Given the description of an element on the screen output the (x, y) to click on. 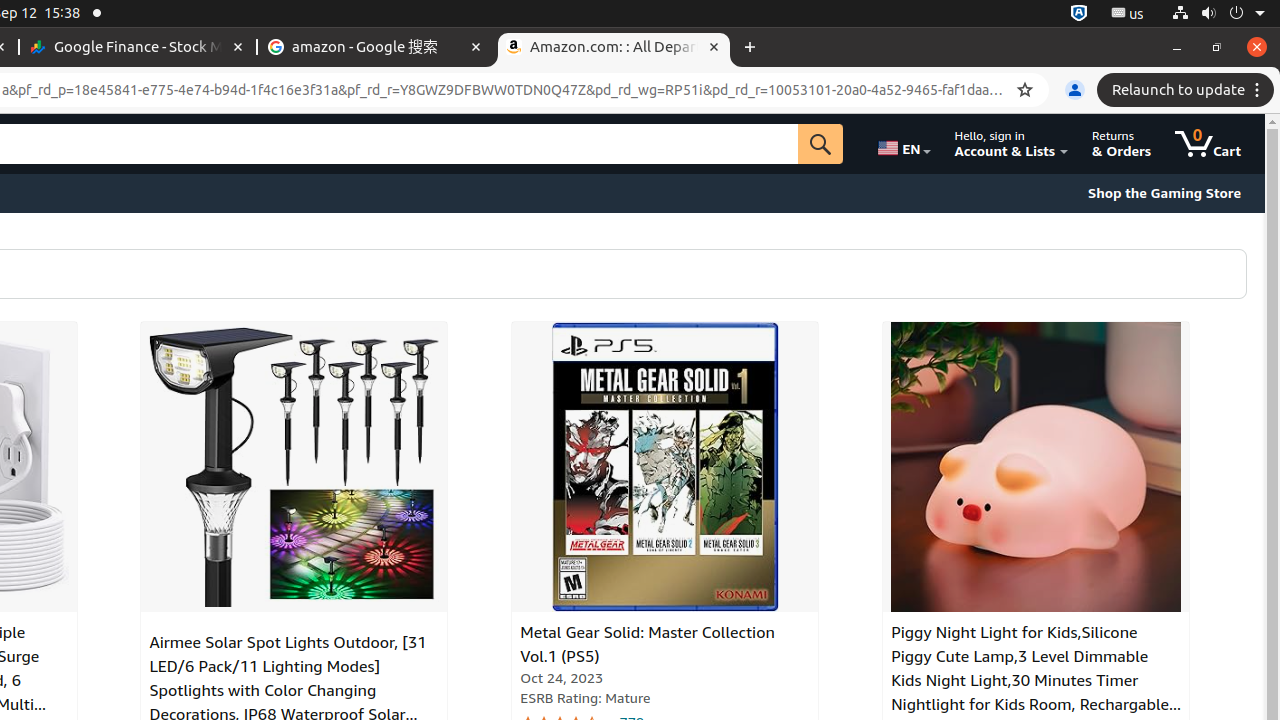
Returns & Orders Element type: link (1121, 144)
Airmee Solar Spot Lights Outdoor, [31 LED/6 Pack/11 Lighting Modes] Spotlights with Color Changing Decorations, IP68 Water... Element type: link (294, 467)
You Element type: push-button (1075, 90)
:1.21/StatusNotifierItem Element type: menu (1127, 13)
New Tab Element type: push-button (750, 47)
